Given the description of an element on the screen output the (x, y) to click on. 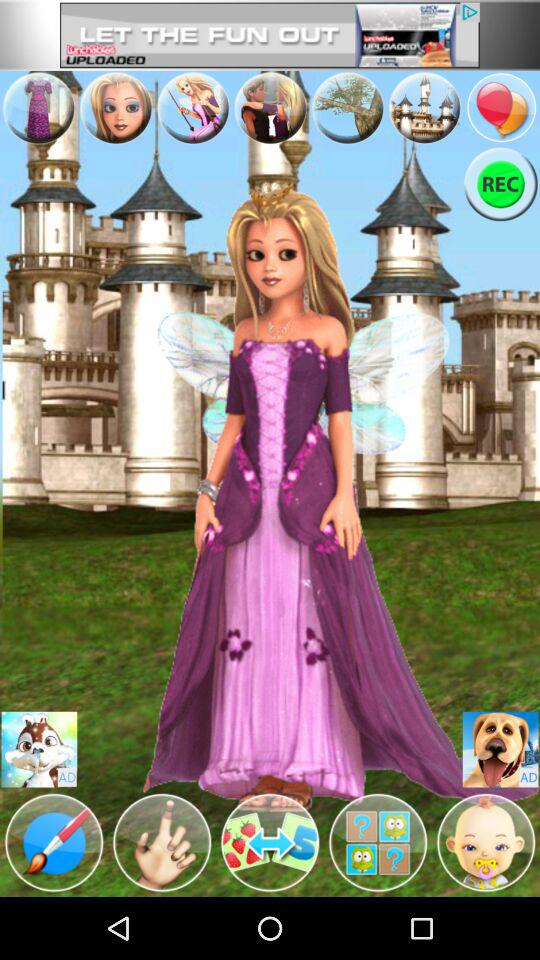
paint in draw the image (54, 843)
